Given the description of an element on the screen output the (x, y) to click on. 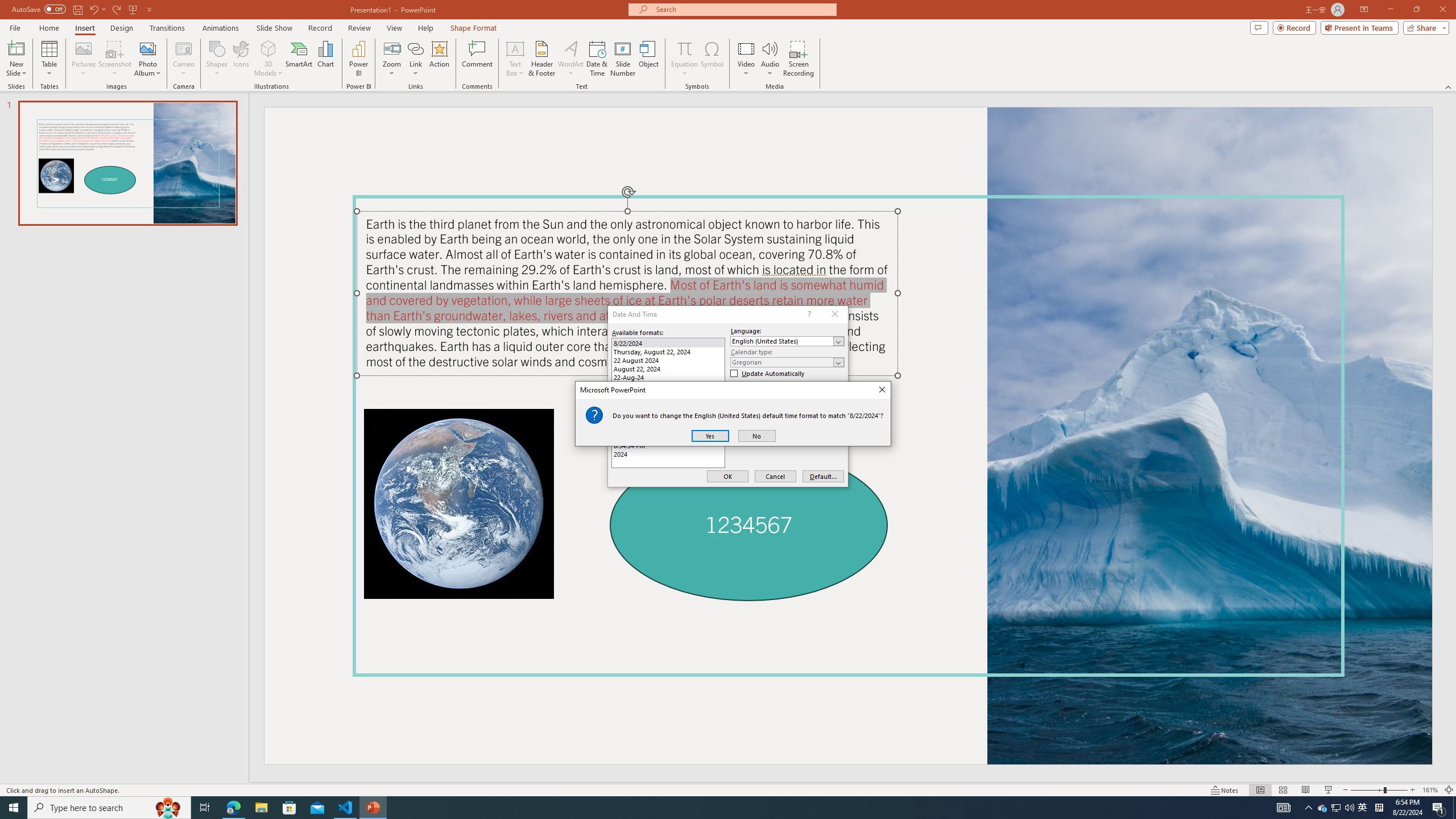
Equation (683, 48)
File Explorer (261, 807)
Microsoft Edge - 1 running window (233, 807)
Pictures (83, 58)
Video (745, 58)
Design (122, 28)
New Slide (16, 48)
Audio (769, 58)
Close (881, 389)
Thursday, August 22, 2024 (667, 351)
Object... (649, 58)
Shapes (216, 58)
